Given the description of an element on the screen output the (x, y) to click on. 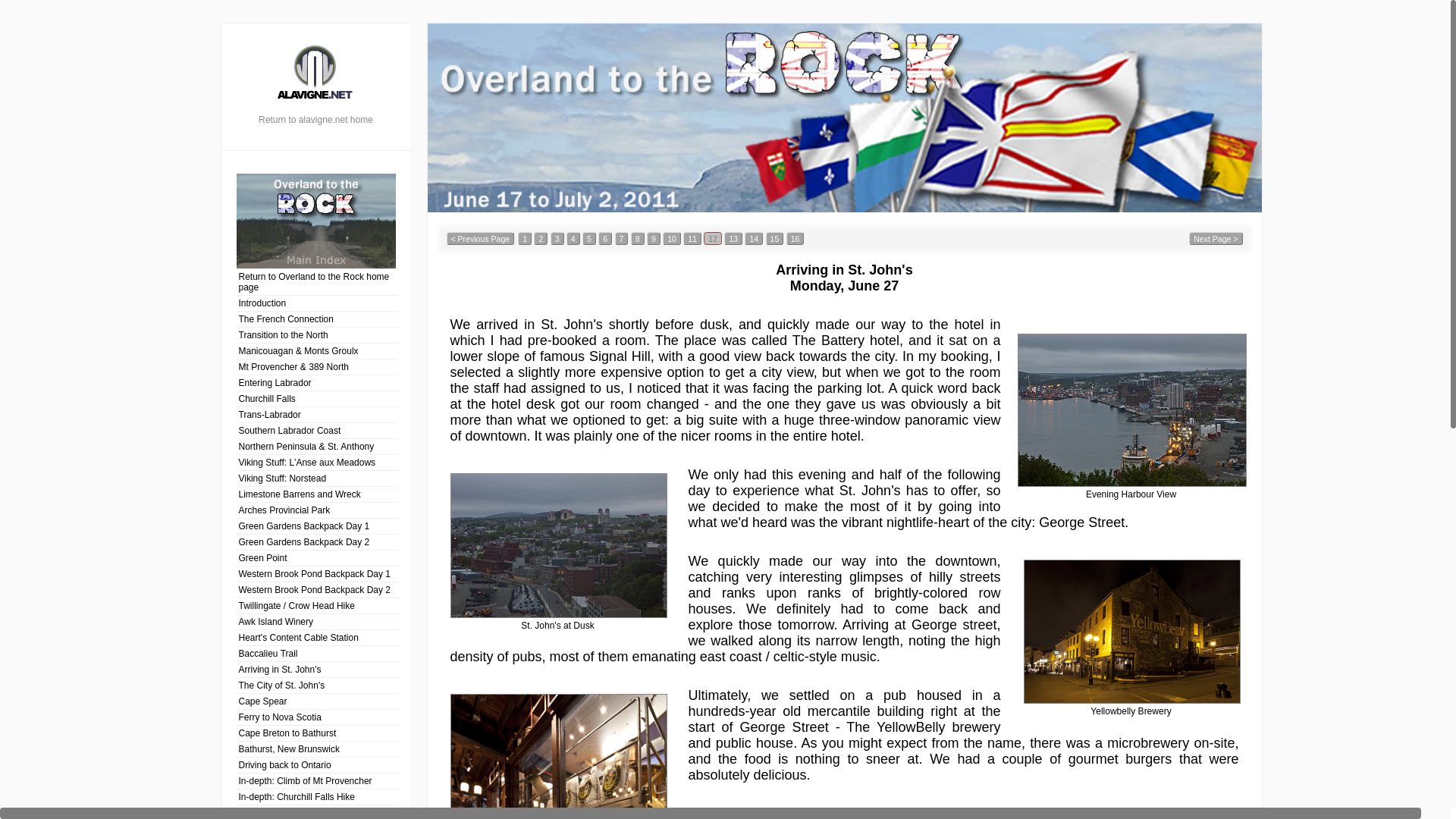
Introduction (316, 302)
Green Gardens Backpack Day 2 (316, 541)
Andrew Lavigne's Website (315, 73)
Baccalieu Trail (316, 652)
Trans-Labrador (316, 414)
Viking Stuff: Norstead (316, 478)
Arriving in St. John's (316, 668)
Green Gardens Backpack Day 1 (316, 525)
Driving back to Ontario (316, 764)
Southern Labrador Coast (316, 430)
Green Point (316, 557)
Ferry to Nova Scotia (316, 716)
Bathurst, New Brunswick (316, 748)
Limestone Barrens and Wreck (316, 494)
Return to Overland to the Rock home page (316, 281)
